Given the description of an element on the screen output the (x, y) to click on. 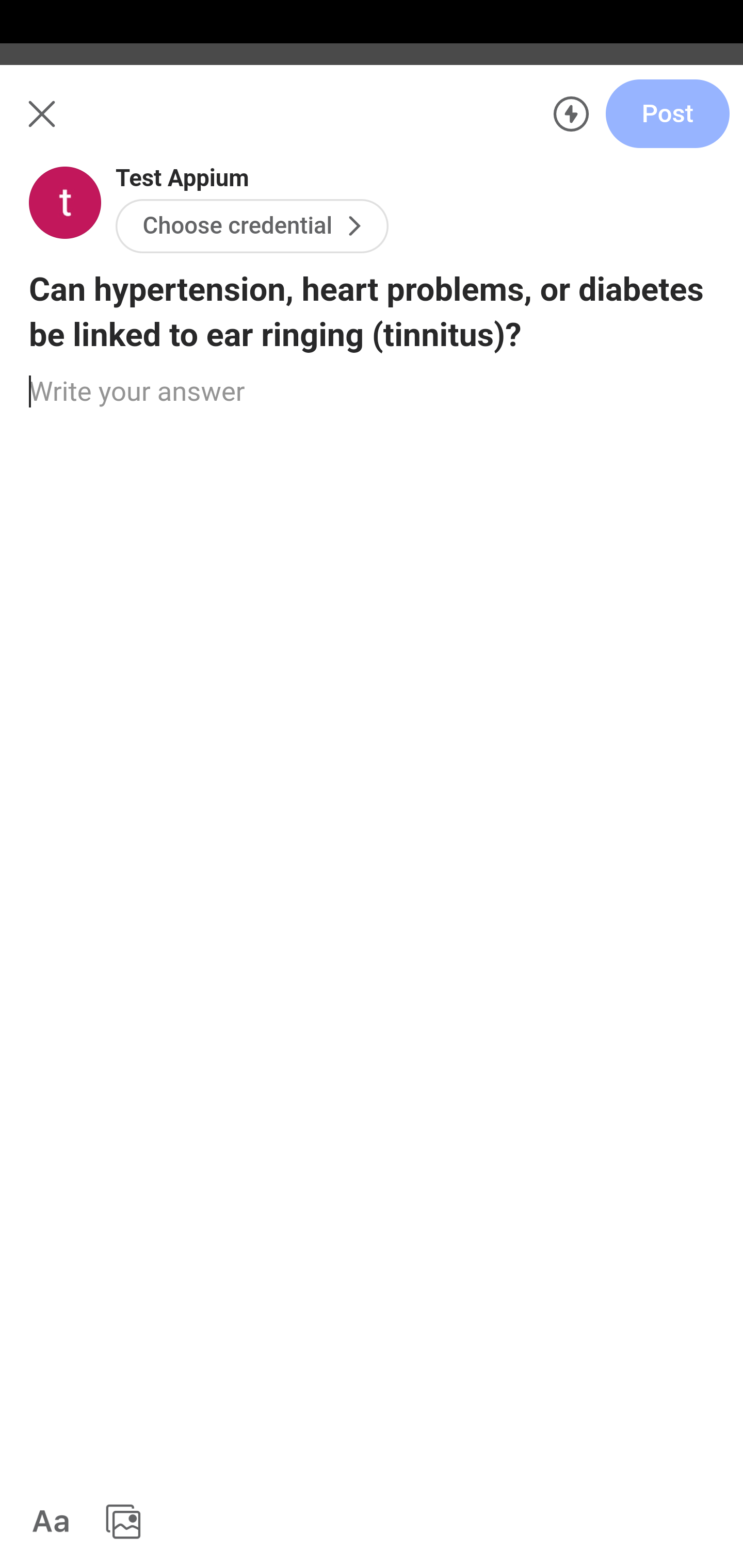
Me Answer Search Add (371, 125)
Me (64, 125)
For you (68, 210)
